Given the description of an element on the screen output the (x, y) to click on. 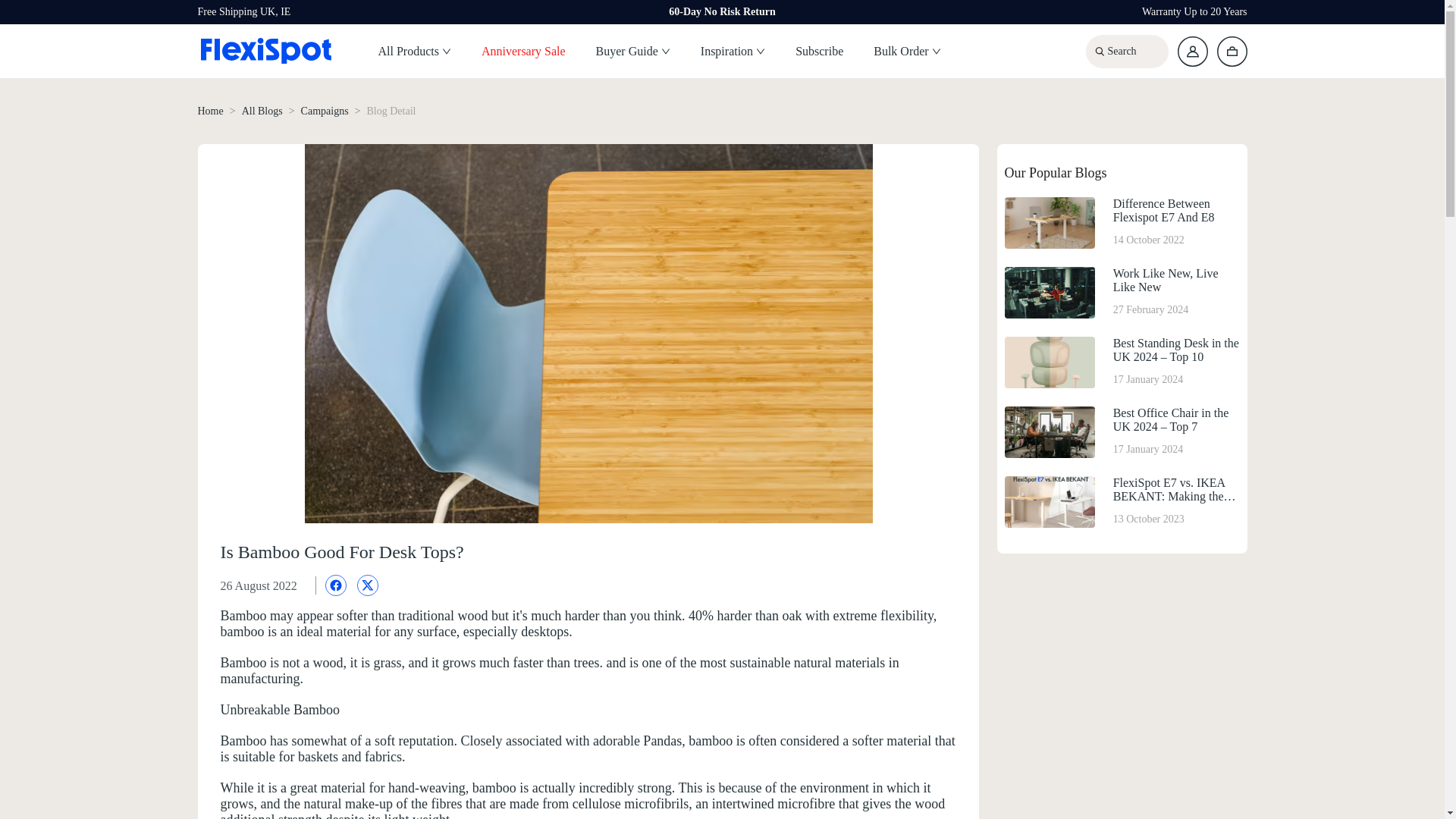
Bulk Order (906, 51)
Anniversary Sale (523, 51)
All Blogs (261, 111)
Subscribe (818, 51)
Campaigns (1121, 292)
Home (325, 111)
